Given the description of an element on the screen output the (x, y) to click on. 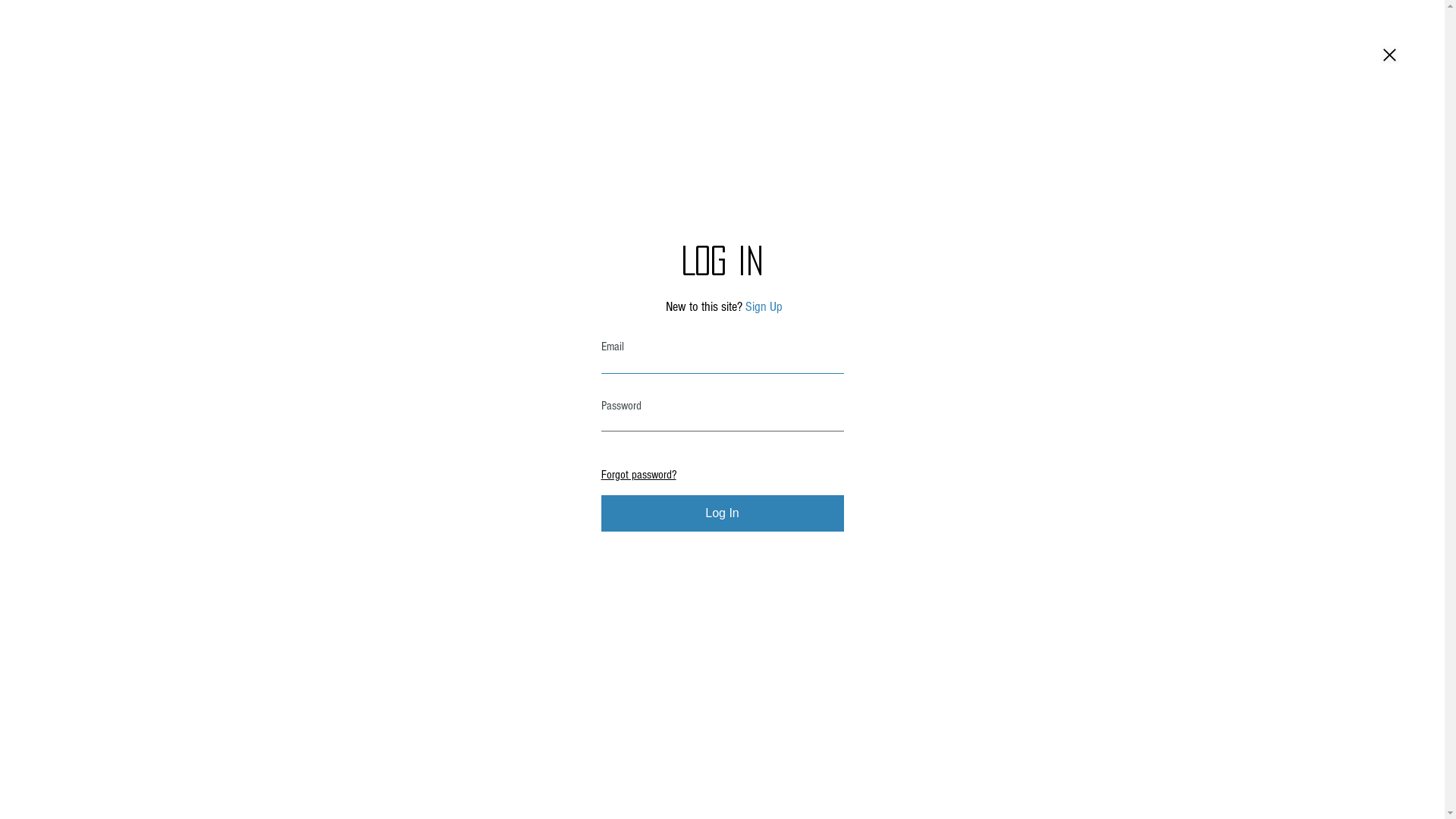
Sign Up Element type: text (762, 306)
Forgot password? Element type: text (637, 474)
Log In Element type: text (721, 513)
